Given the description of an element on the screen output the (x, y) to click on. 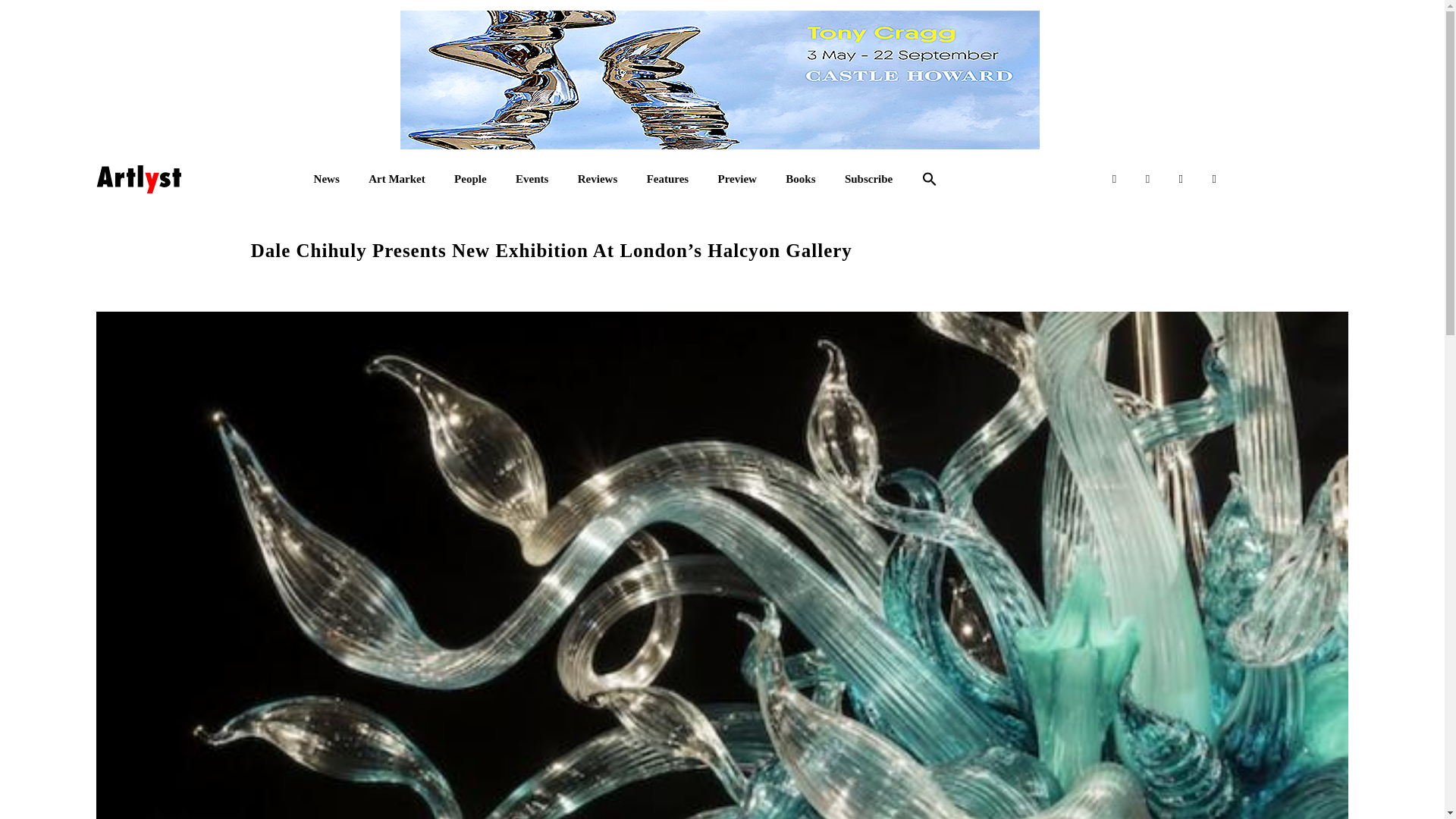
Books (800, 178)
Art Market (396, 178)
Reviews (597, 178)
News (326, 178)
Subscribe (868, 178)
Preview (737, 178)
Events (531, 178)
People (470, 178)
Features (667, 178)
